Given the description of an element on the screen output the (x, y) to click on. 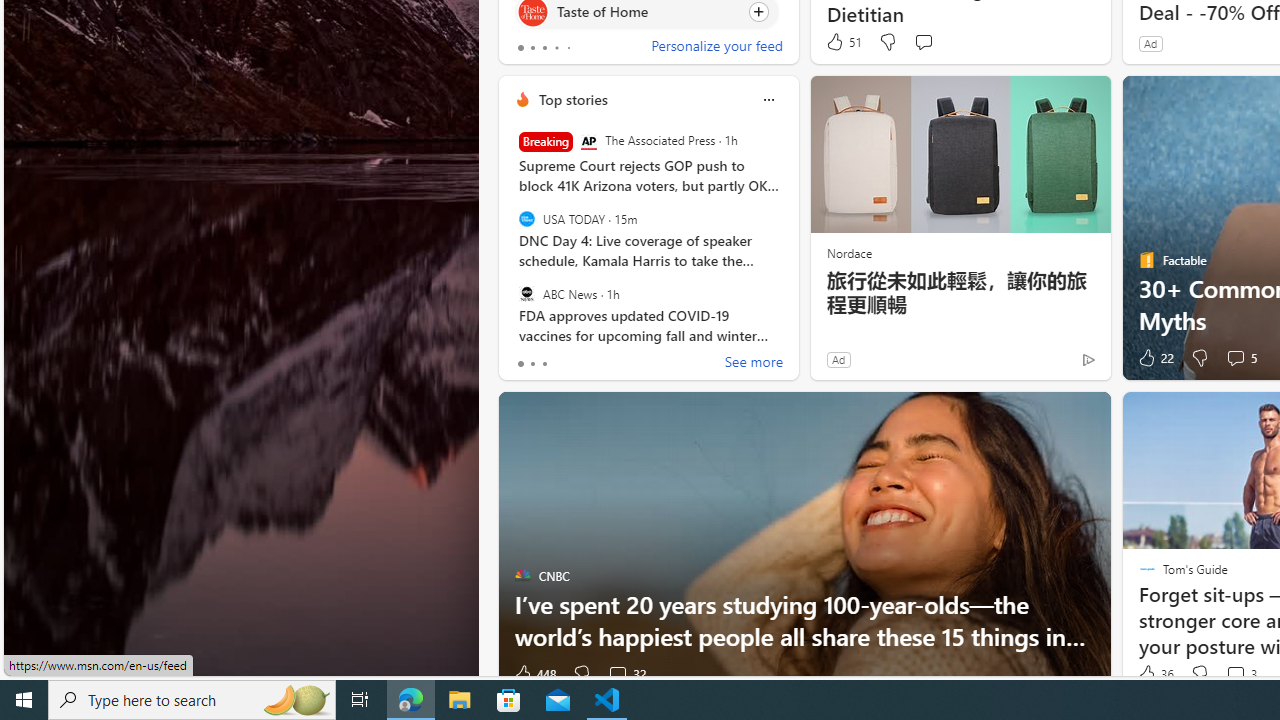
View comments 3 Comment (1240, 674)
Top stories (572, 99)
tab-4 (567, 47)
tab-2 (543, 363)
51 Like (843, 42)
ABC News (526, 293)
tab-0 (520, 363)
tab-3 (556, 47)
22 Like (1154, 358)
Personalize your feed (716, 47)
View comments 32 Comment (626, 674)
